Given the description of an element on the screen output the (x, y) to click on. 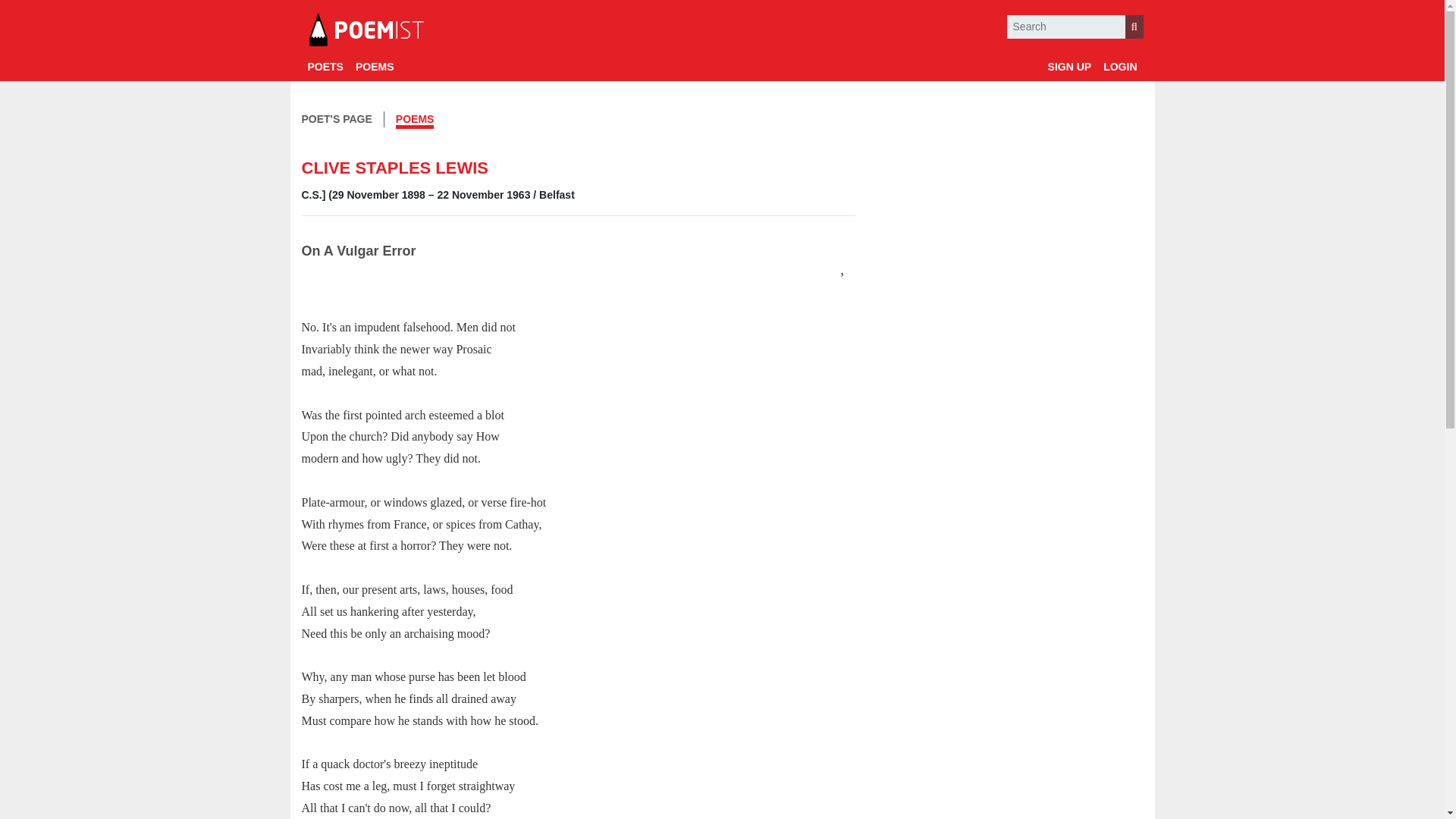
Sign Up (1069, 67)
Poets (325, 67)
Login (1119, 67)
Poems (374, 67)
Clive Staples Lewis (336, 119)
Poemist - All About Poems and Poetry (365, 30)
POEMS (374, 67)
Poems of Clive Staples Lewis (414, 120)
SIGN UP (1069, 67)
POEMS (414, 120)
POET'S PAGE (336, 119)
POETS (325, 67)
LOGIN (1119, 67)
